Given the description of an element on the screen output the (x, y) to click on. 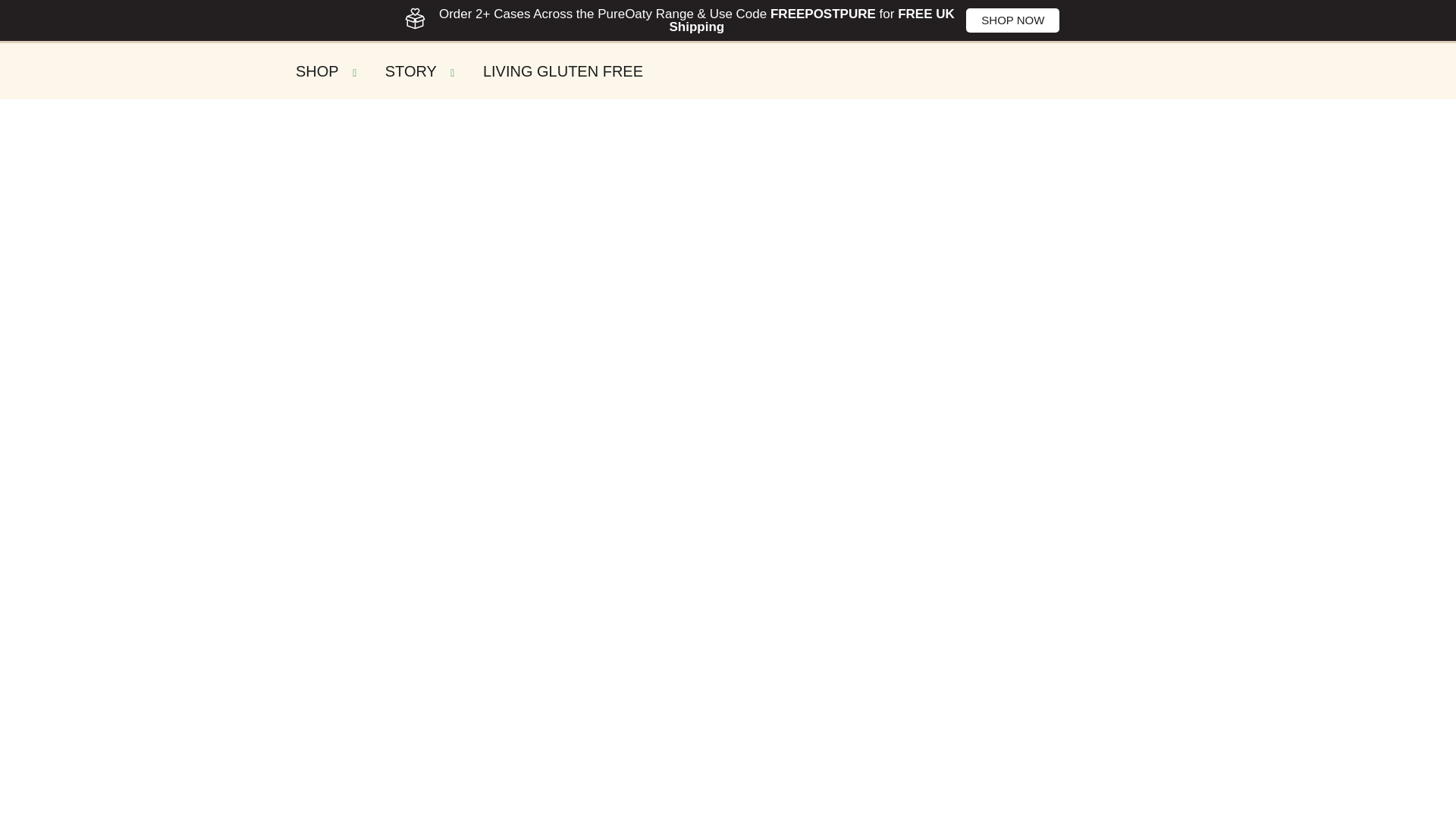
SHOP NOW (1012, 20)
LIVING GLUTEN FREE (563, 70)
SHOP (328, 70)
STORY (422, 70)
